Given the description of an element on the screen output the (x, y) to click on. 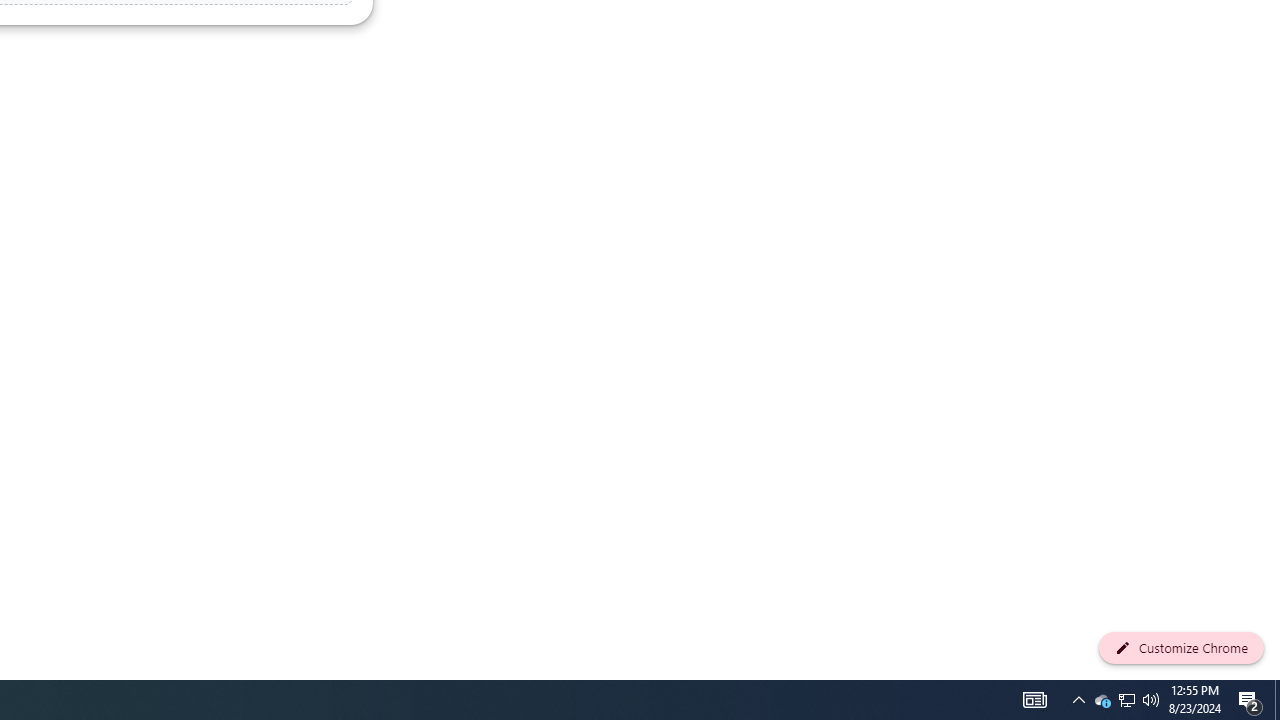
AutomationID: 4105 (1034, 699)
Notification Chevron (1078, 699)
Q2790: 100% (1151, 699)
Customize Chrome (1181, 647)
User Promoted Notification Area (1126, 699)
Action Center, 2 new notifications (1250, 699)
Show desktop (1126, 699)
